Given the description of an element on the screen output the (x, y) to click on. 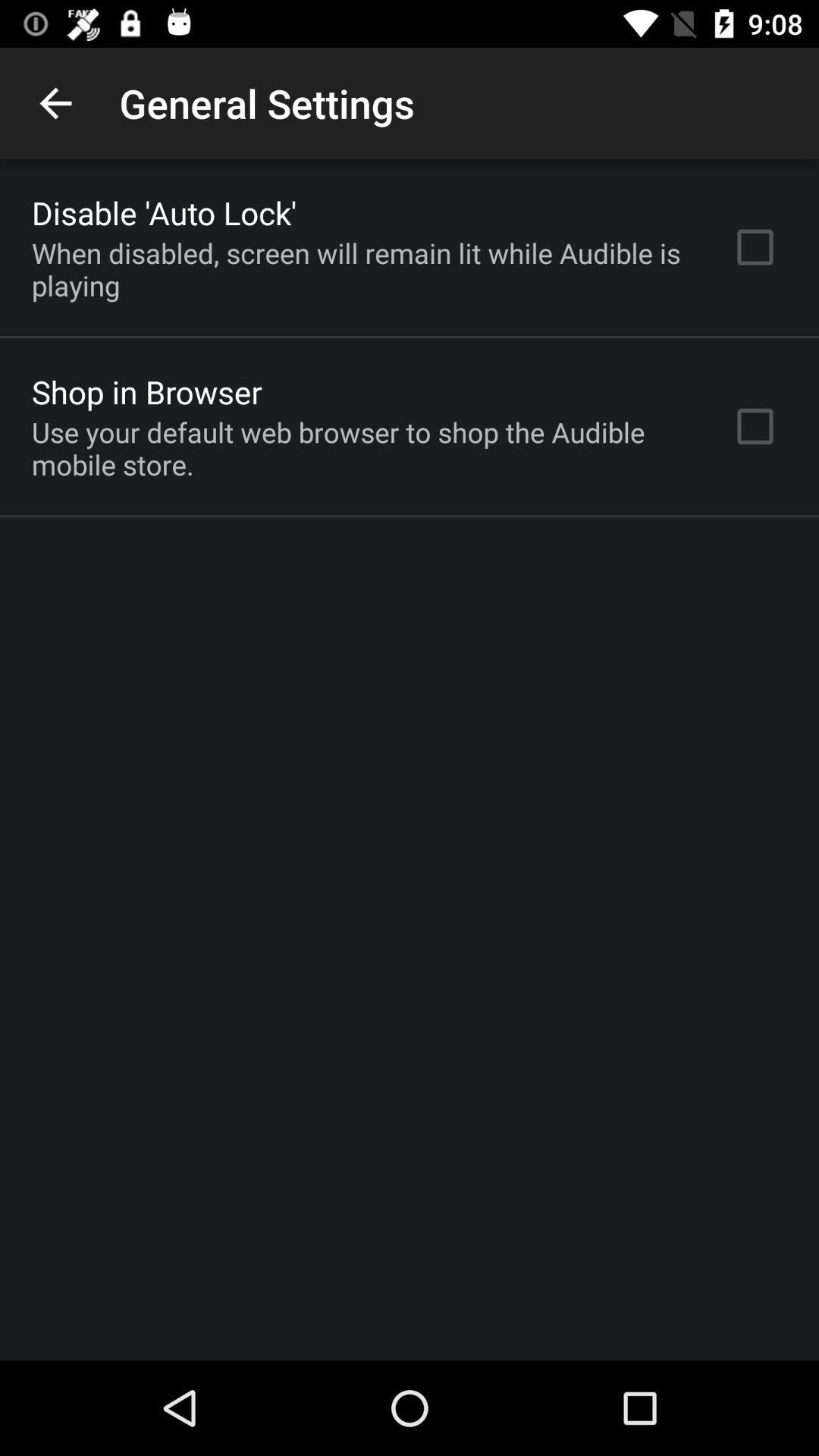
press item above the disable 'auto lock' (55, 103)
